Given the description of an element on the screen output the (x, y) to click on. 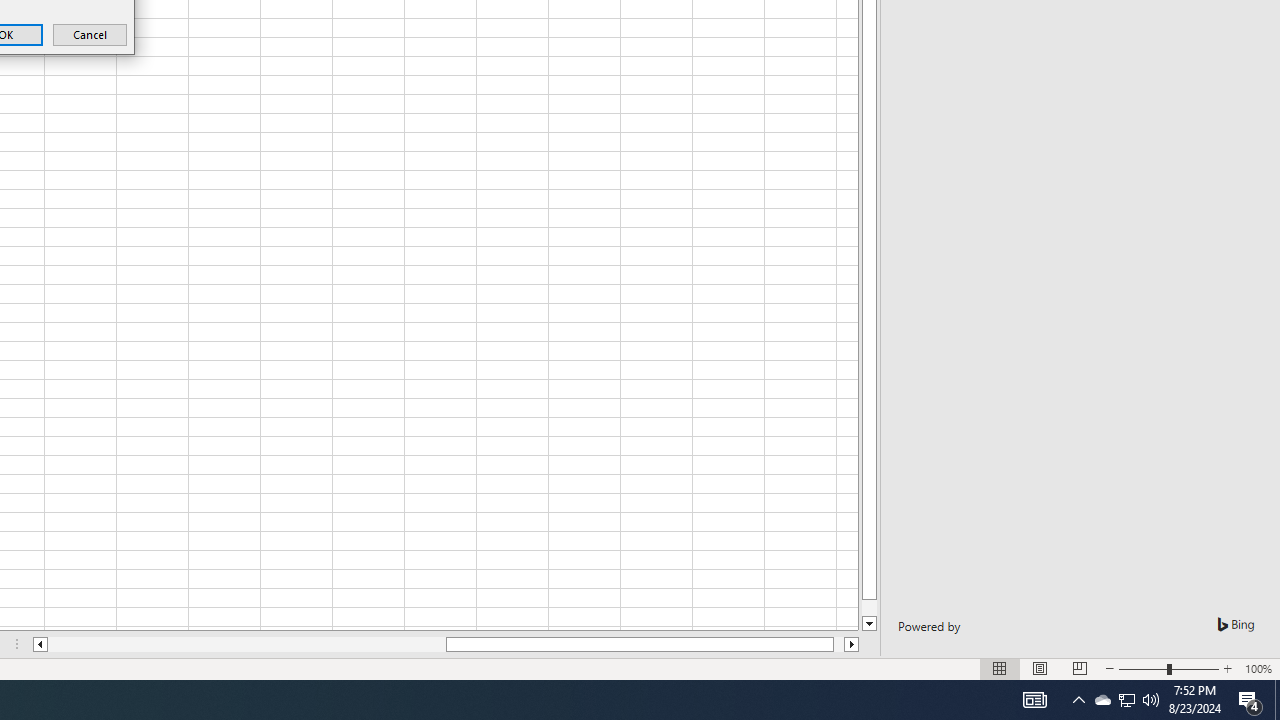
Page right (838, 644)
Notification Chevron (1078, 699)
User Promoted Notification Area (1126, 699)
Cancel (1102, 699)
